Given the description of an element on the screen output the (x, y) to click on. 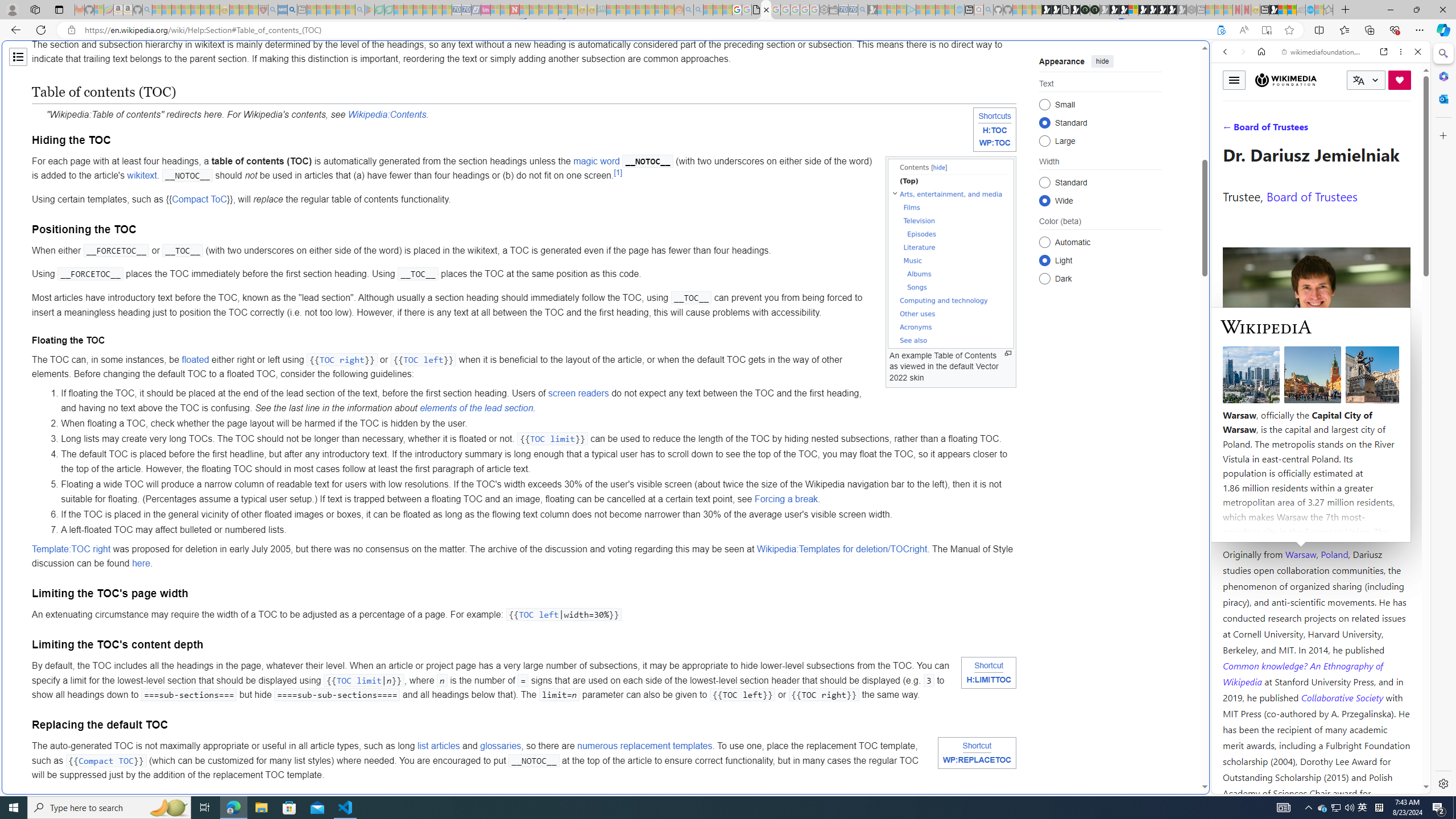
Search or enter web address (922, 108)
Home | Sky Blue Bikes - Sky Blue Bikes (1118, 242)
Forcing a break (786, 498)
